Given the description of an element on the screen output the (x, y) to click on. 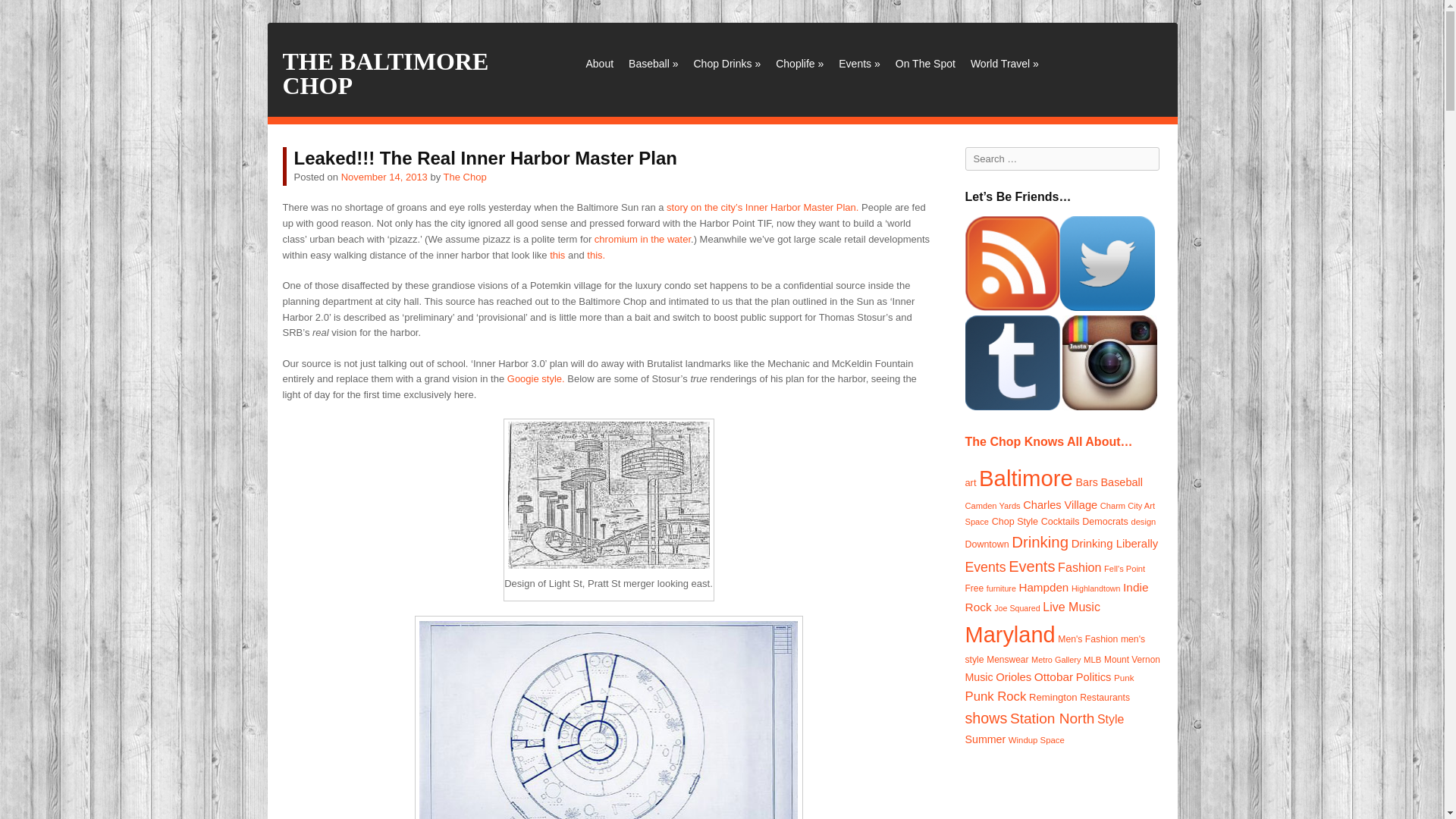
The Baltimore Chop (384, 73)
View all posts by The Chop (465, 176)
THE BALTIMORE CHOP (384, 73)
8:00 am (384, 176)
About (599, 63)
